Given the description of an element on the screen output the (x, y) to click on. 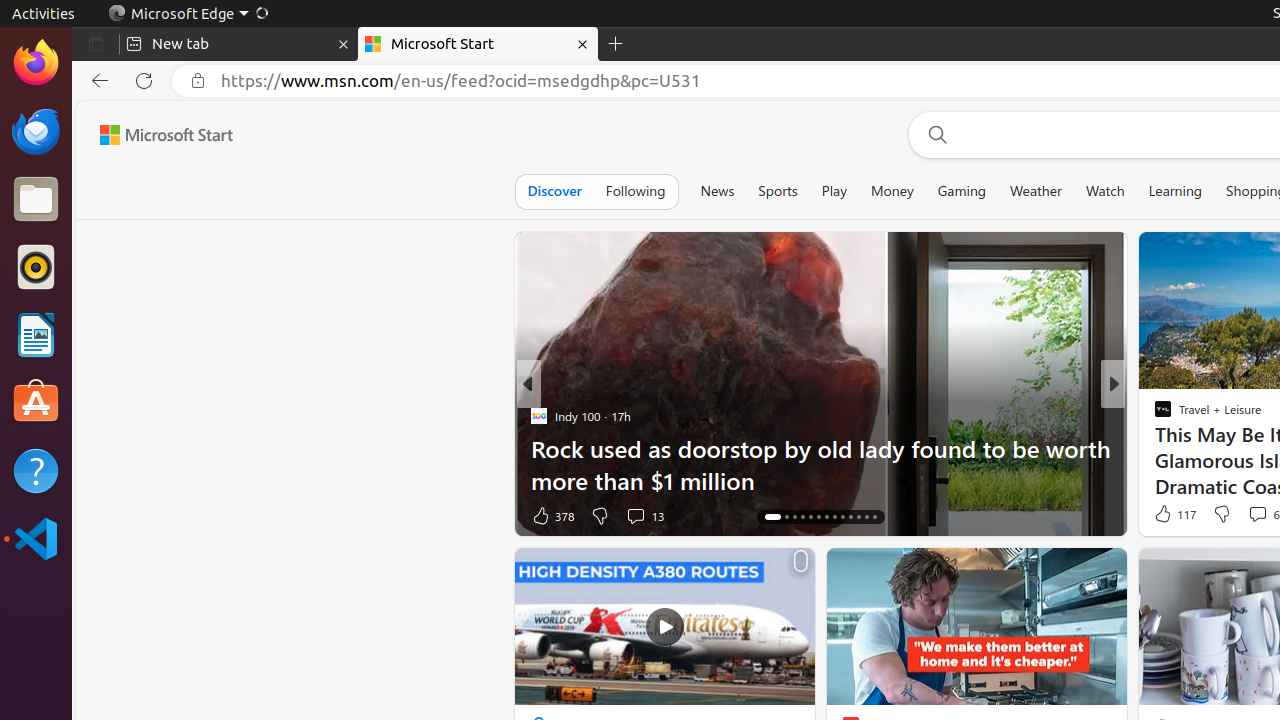
View comments 2 Comment Element type: push-button (1245, 515)
View comments 7 Comment Element type: push-button (1251, 515)
View comments 2 Comment Element type: link (1251, 515)
5 Like Element type: toggle-button (1161, 515)
Help Element type: push-button (36, 470)
